Given the description of an element on the screen output the (x, y) to click on. 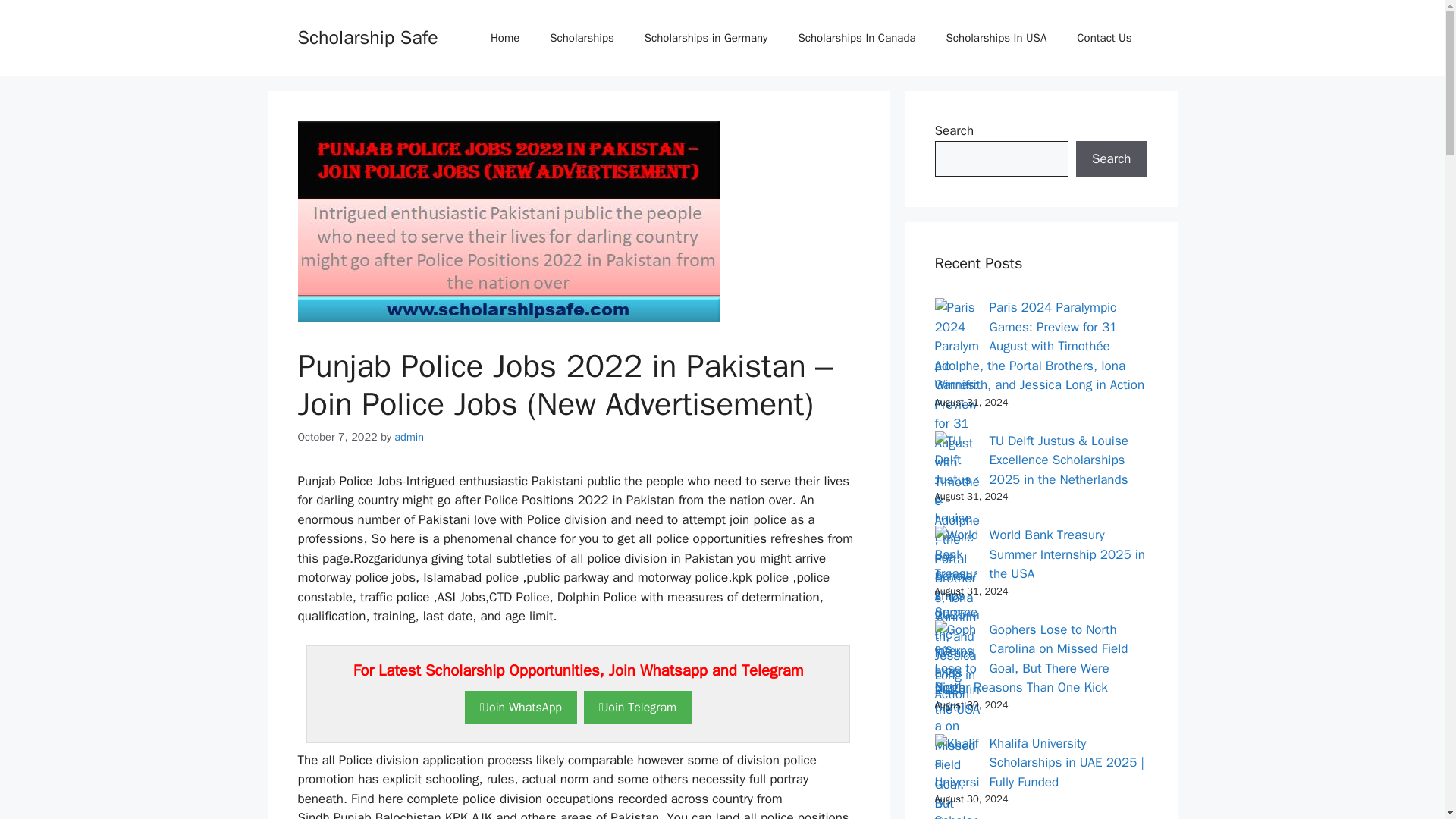
Join WhatsApp (520, 707)
World Bank Treasury Summer Internship 2025 in the USA (1066, 554)
Scholarships (581, 37)
Join Telegram (637, 707)
Home (505, 37)
Scholarships in Germany (705, 37)
View all posts by admin (408, 436)
Search (1111, 158)
admin (408, 436)
